Given the description of an element on the screen output the (x, y) to click on. 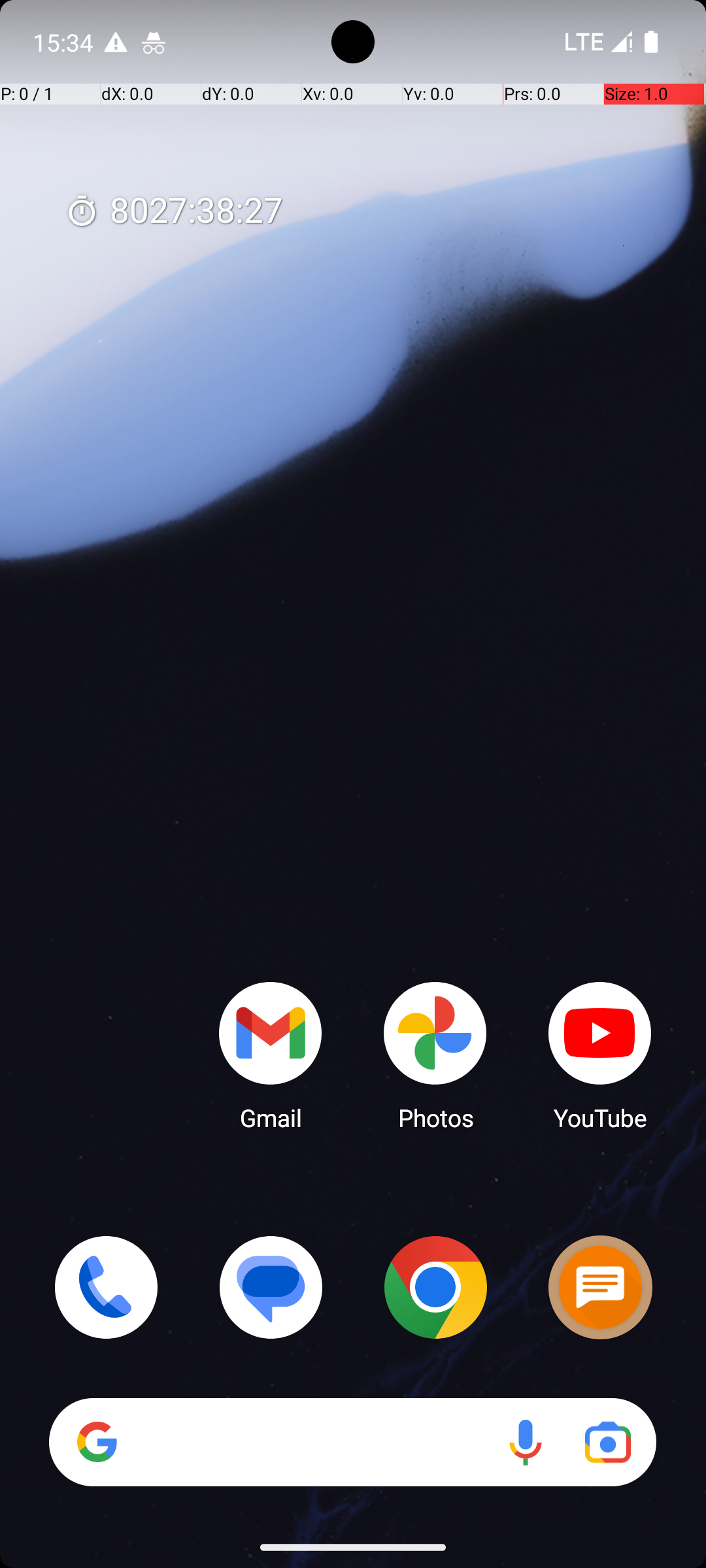
SMS Messenger Element type: android.widget.TextView (599, 1287)
8027:38:27 Element type: android.widget.TextView (173, 210)
